Given the description of an element on the screen output the (x, y) to click on. 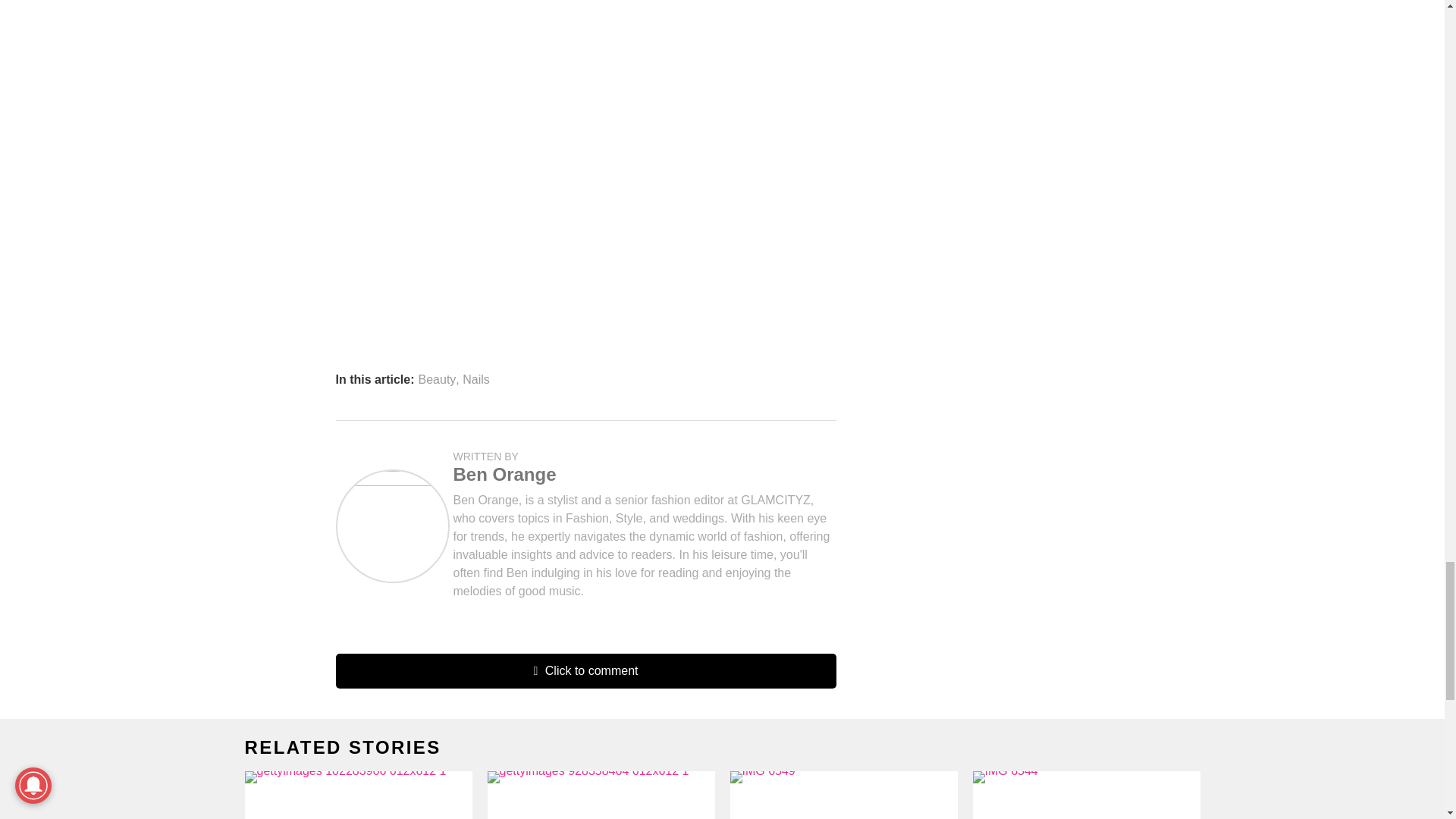
Posts by Ben Orange (504, 474)
